Given the description of an element on the screen output the (x, y) to click on. 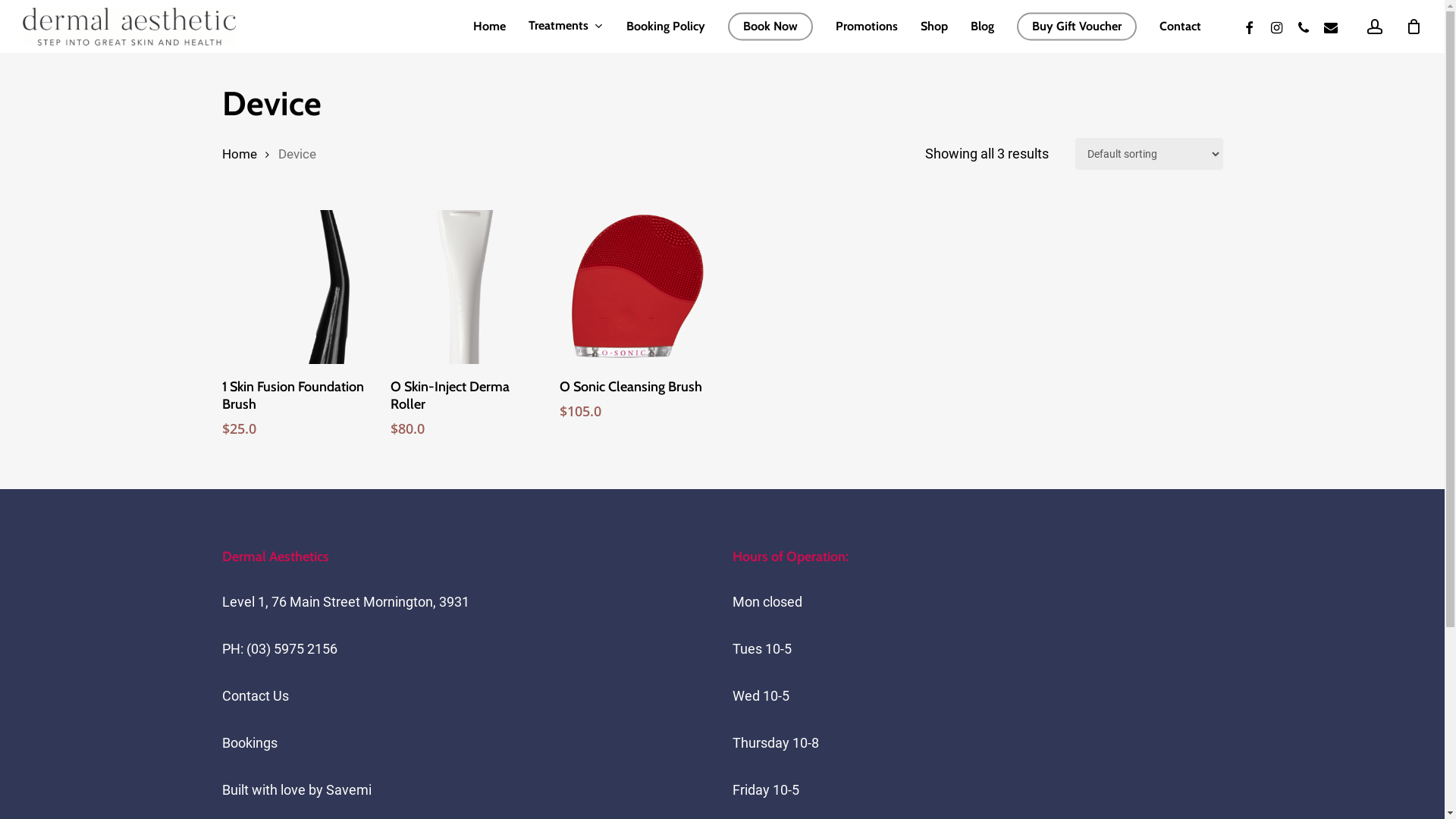
Contact Element type: text (1180, 26)
Bookings Element type: text (248, 742)
Shop Element type: text (933, 26)
Buy Gift Voucher Element type: text (1076, 26)
facebook Element type: text (1248, 25)
Home Element type: text (238, 154)
Treatments Element type: text (565, 25)
Savemi Element type: text (348, 789)
Booking Policy Element type: text (665, 26)
Promotions Element type: text (866, 26)
Contact Us Element type: text (254, 695)
instagram Element type: text (1275, 25)
Book Now Element type: text (770, 26)
Home Element type: text (489, 26)
(03) 5975 2156 Element type: text (290, 648)
phone Element type: text (1303, 25)
Blog Element type: text (982, 26)
Level 1, 76 Main Street Mornington, 3931 Element type: text (344, 601)
email Element type: text (1330, 25)
account Element type: text (1374, 26)
